Given the description of an element on the screen output the (x, y) to click on. 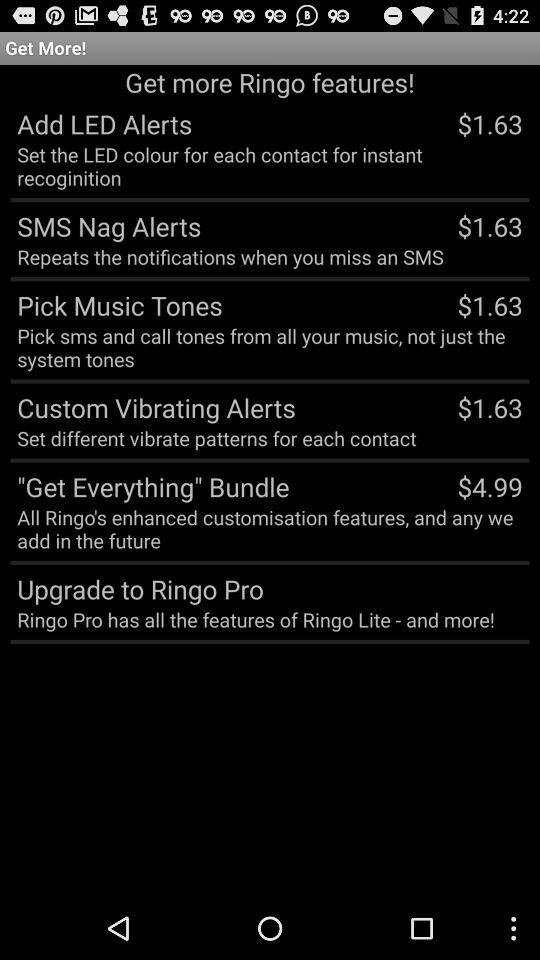
click the app next to $1.63 app (216, 437)
